Given the description of an element on the screen output the (x, y) to click on. 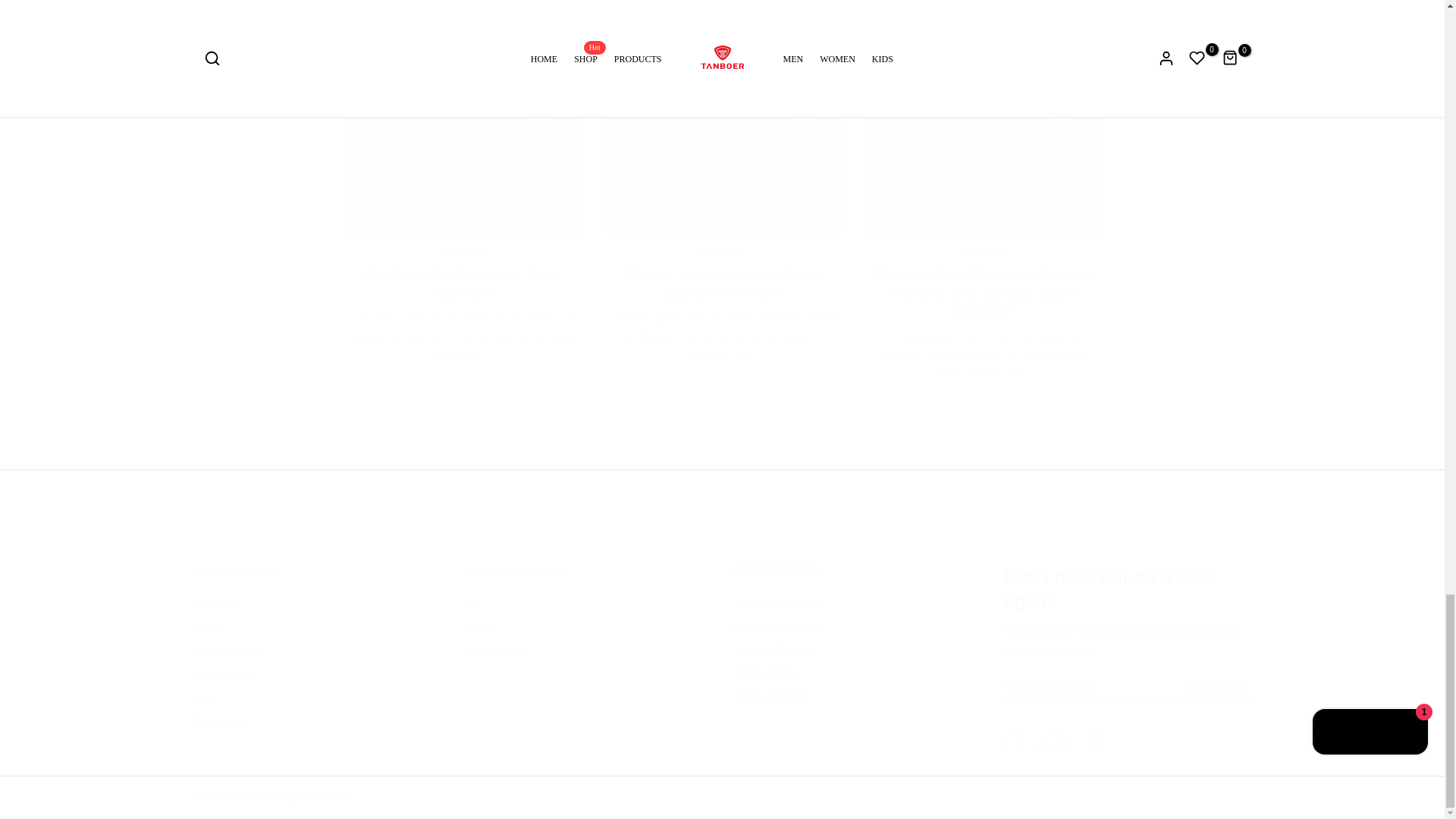
Follow on YouTube (1093, 745)
ARTICLES (982, 253)
Follow on Twitter (1018, 745)
ARTICLES (722, 253)
ARTICLES (461, 253)
Follow on Instagram (1056, 745)
Should You Invest in a Down Jacket for Winter? (722, 282)
Do Down Jackets Lose Their Warmth? (461, 282)
